Given the description of an element on the screen output the (x, y) to click on. 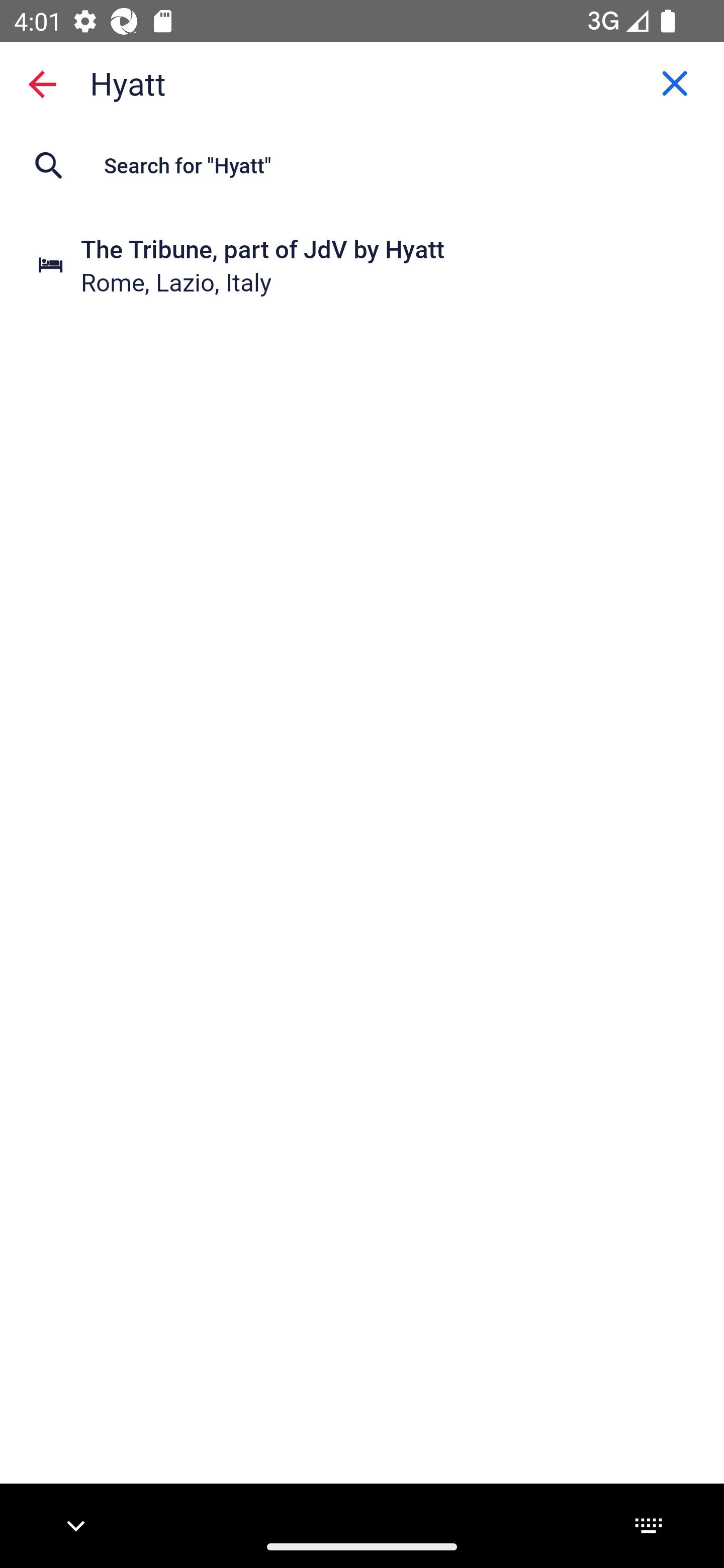
Clear query (674, 82)
Property name, Hyatt (361, 82)
Back to search screen (41, 83)
Search for "Hyatt" (362, 165)
